Given the description of an element on the screen output the (x, y) to click on. 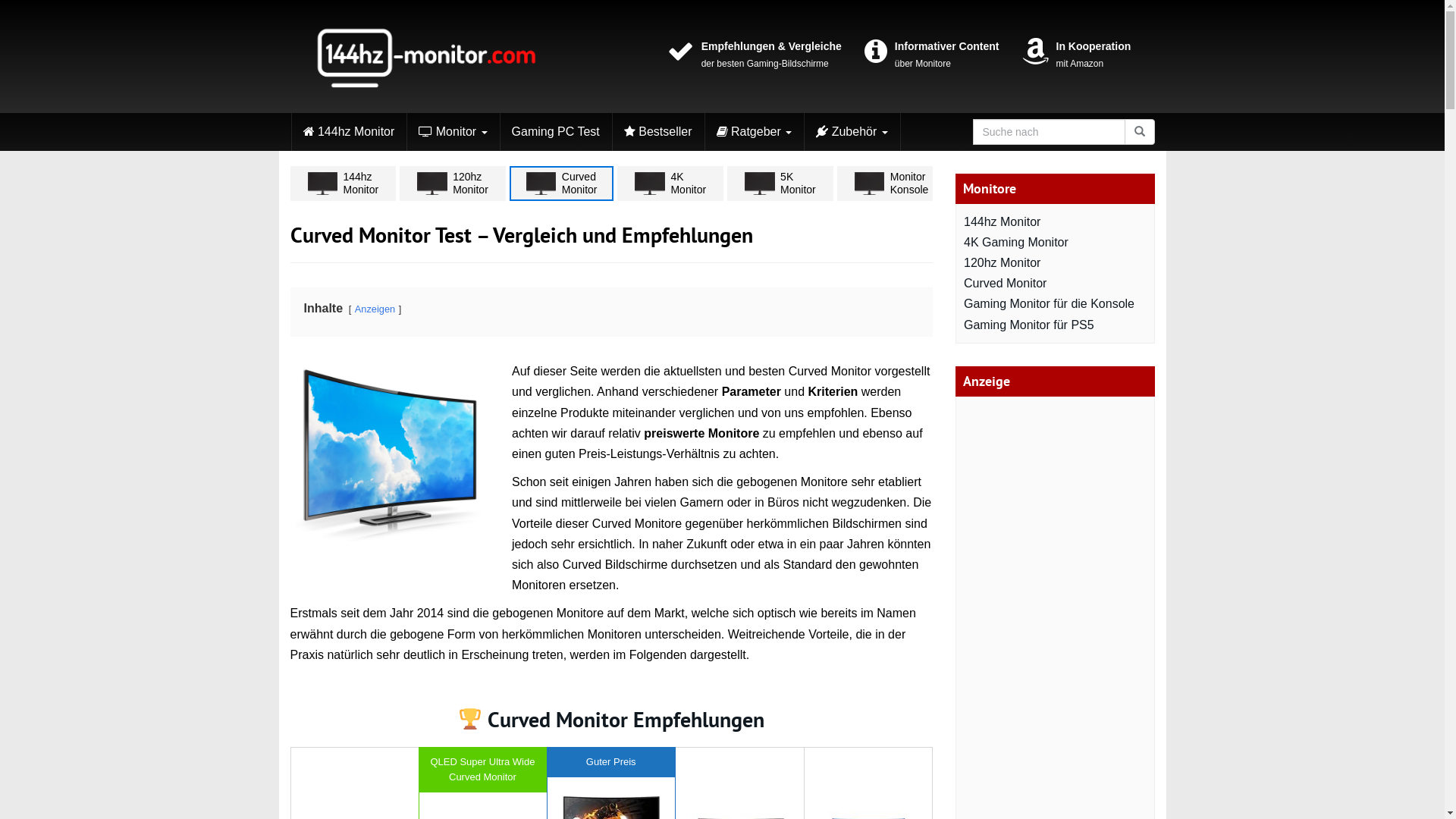
120hz Monitor Element type: text (452, 183)
144hz-monitor.com Element type: hover (425, 56)
Anzeigen Element type: text (374, 308)
Bestseller Element type: text (1009, 183)
144hz Monitor Element type: text (342, 183)
Curved Monitor Element type: text (1004, 282)
Monitor Element type: text (452, 131)
Bestseller Element type: text (657, 131)
4K Gaming Monitor Element type: text (1015, 241)
144hz Monitor Element type: text (1001, 221)
120hz Monitor Element type: text (1001, 262)
Curved Monitor Element type: text (561, 183)
Ratgeber Element type: text (754, 131)
Monitor Konsole Element type: text (891, 183)
5K Monitor Element type: text (780, 183)
Gaming PC Test Element type: text (555, 131)
4K Monitor Element type: text (670, 183)
144hz Monitor Element type: text (348, 131)
